Given the description of an element on the screen output the (x, y) to click on. 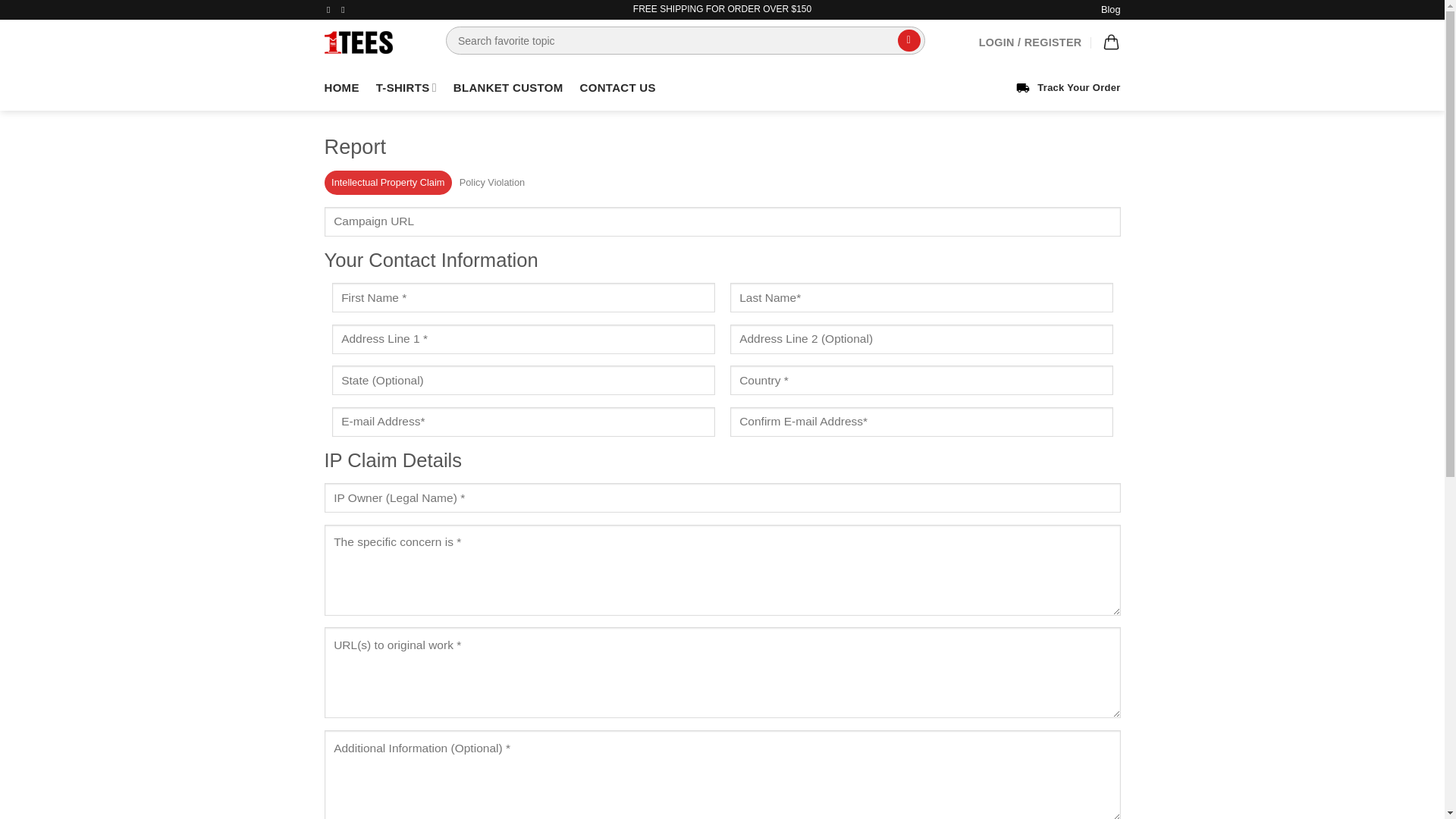
Blog (1110, 9)
T-SHIRTS (405, 87)
Search (906, 40)
BLANKET CUSTOM (507, 87)
1 Tees - Shopping T-shirts with the latest trends (373, 42)
Policy Violation (491, 182)
Intellectual Property Claim (388, 182)
CONTACT US (617, 87)
Track Your Order (1067, 87)
